Given the description of an element on the screen output the (x, y) to click on. 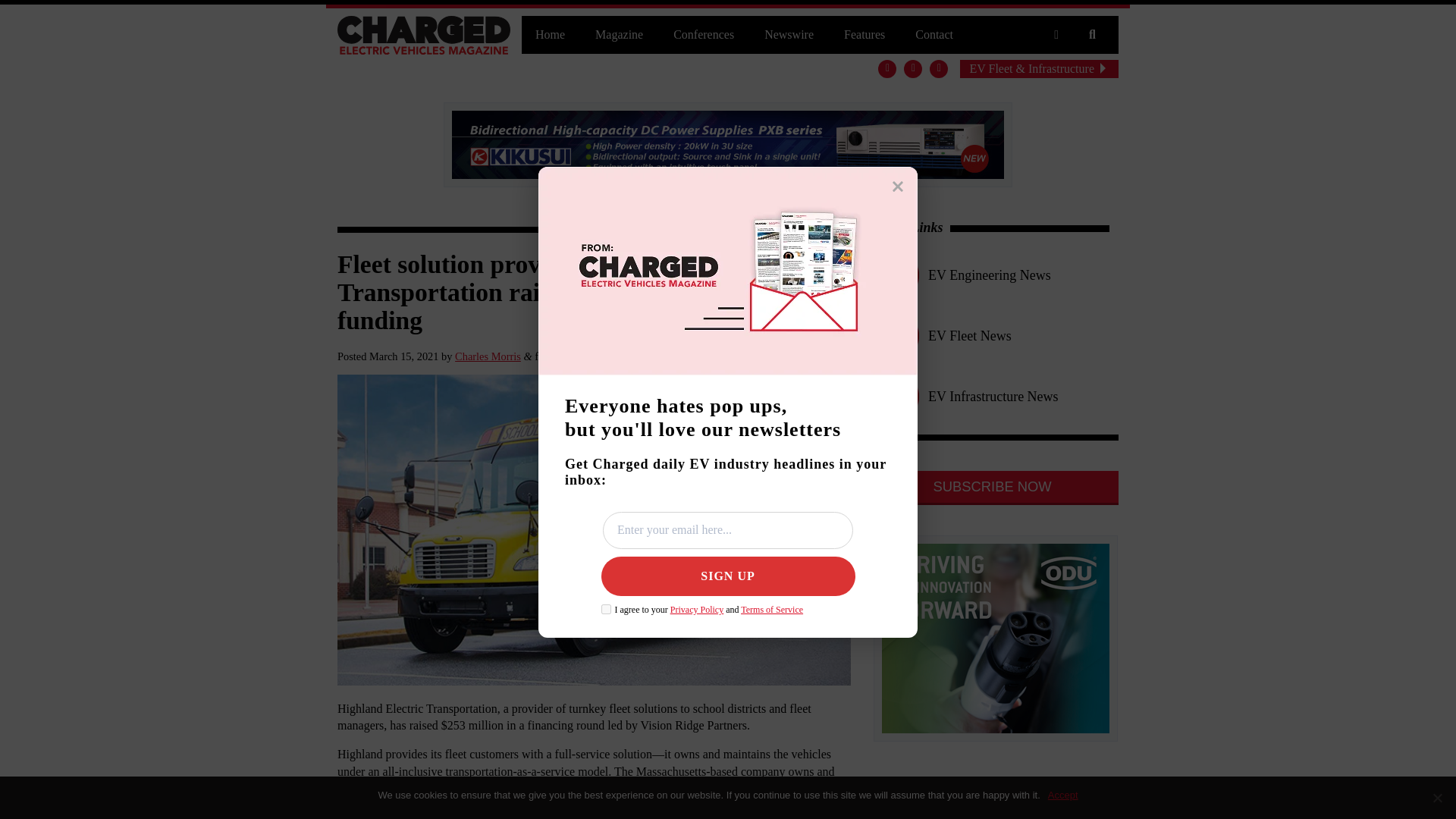
Conferences (703, 34)
Home (549, 34)
Magazine (618, 34)
Contact (933, 34)
on (604, 609)
Features (863, 34)
Newswire (789, 34)
Posts by Charles Morris (487, 356)
Charged EVs (424, 34)
